Given the description of an element on the screen output the (x, y) to click on. 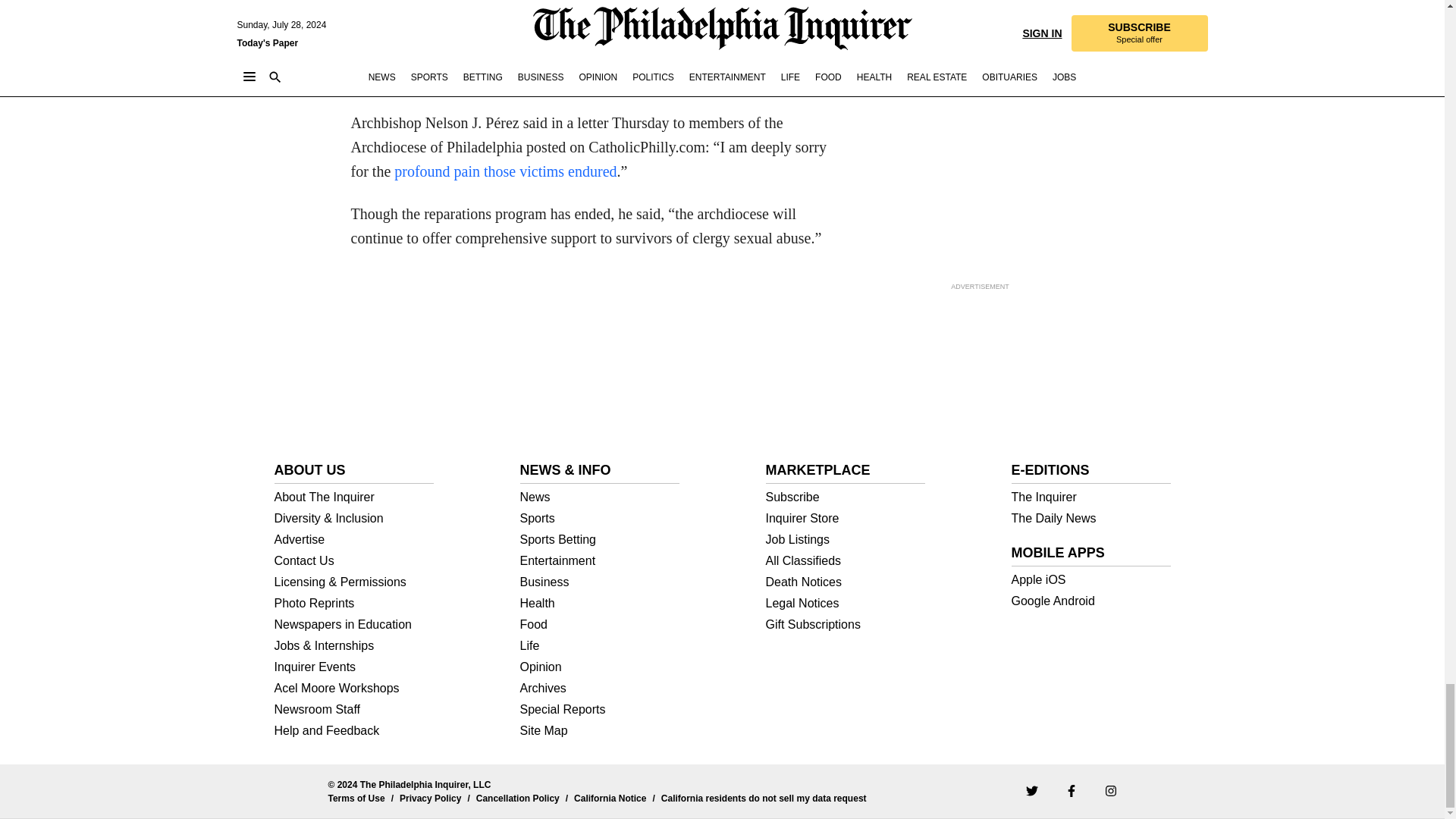
Instagram (1109, 790)
Facebook (1070, 790)
Twitter (1030, 790)
